Given the description of an element on the screen output the (x, y) to click on. 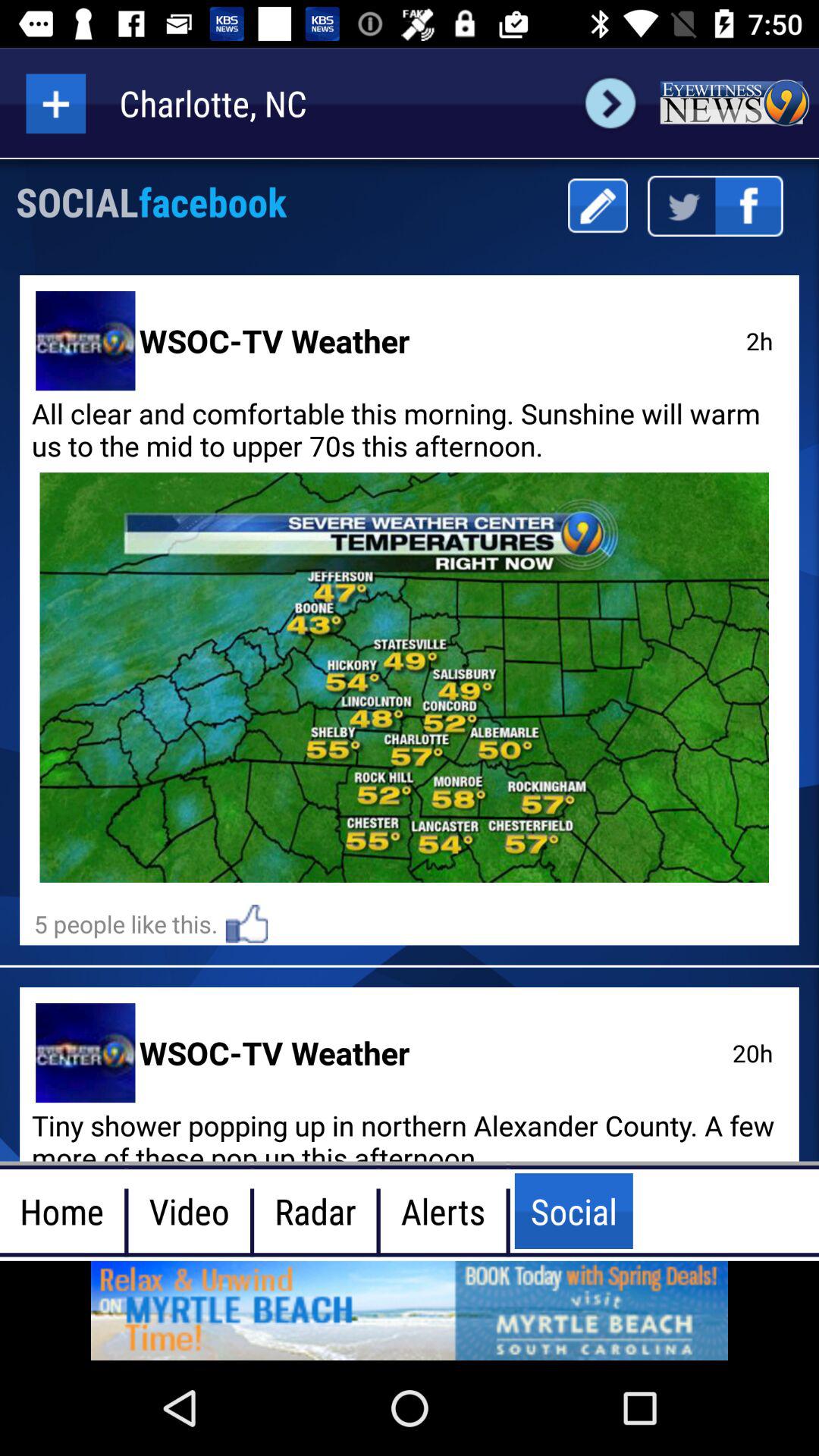
go to mark button (597, 206)
